Given the description of an element on the screen output the (x, y) to click on. 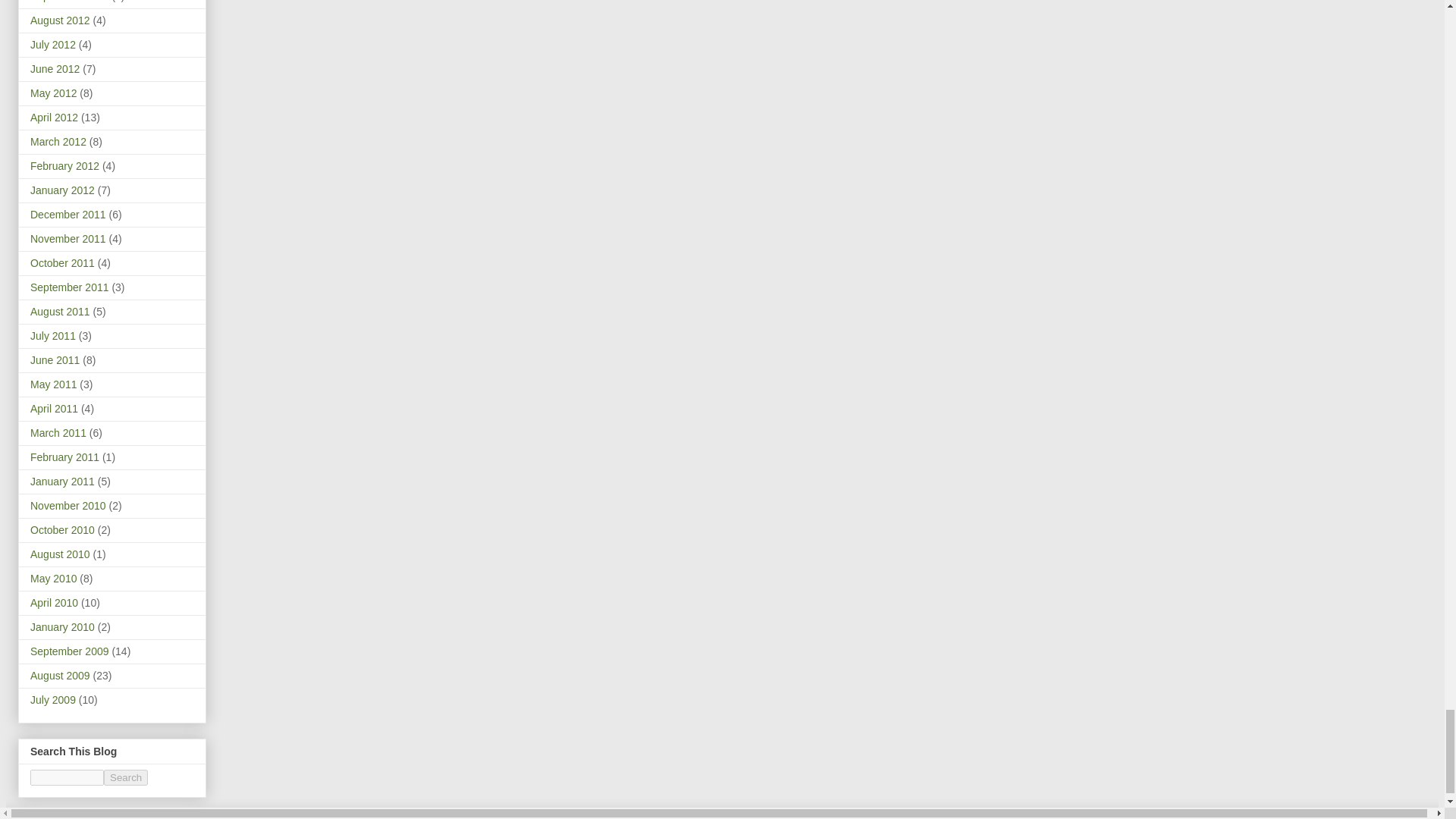
Search (125, 777)
Search (125, 777)
